Given the description of an element on the screen output the (x, y) to click on. 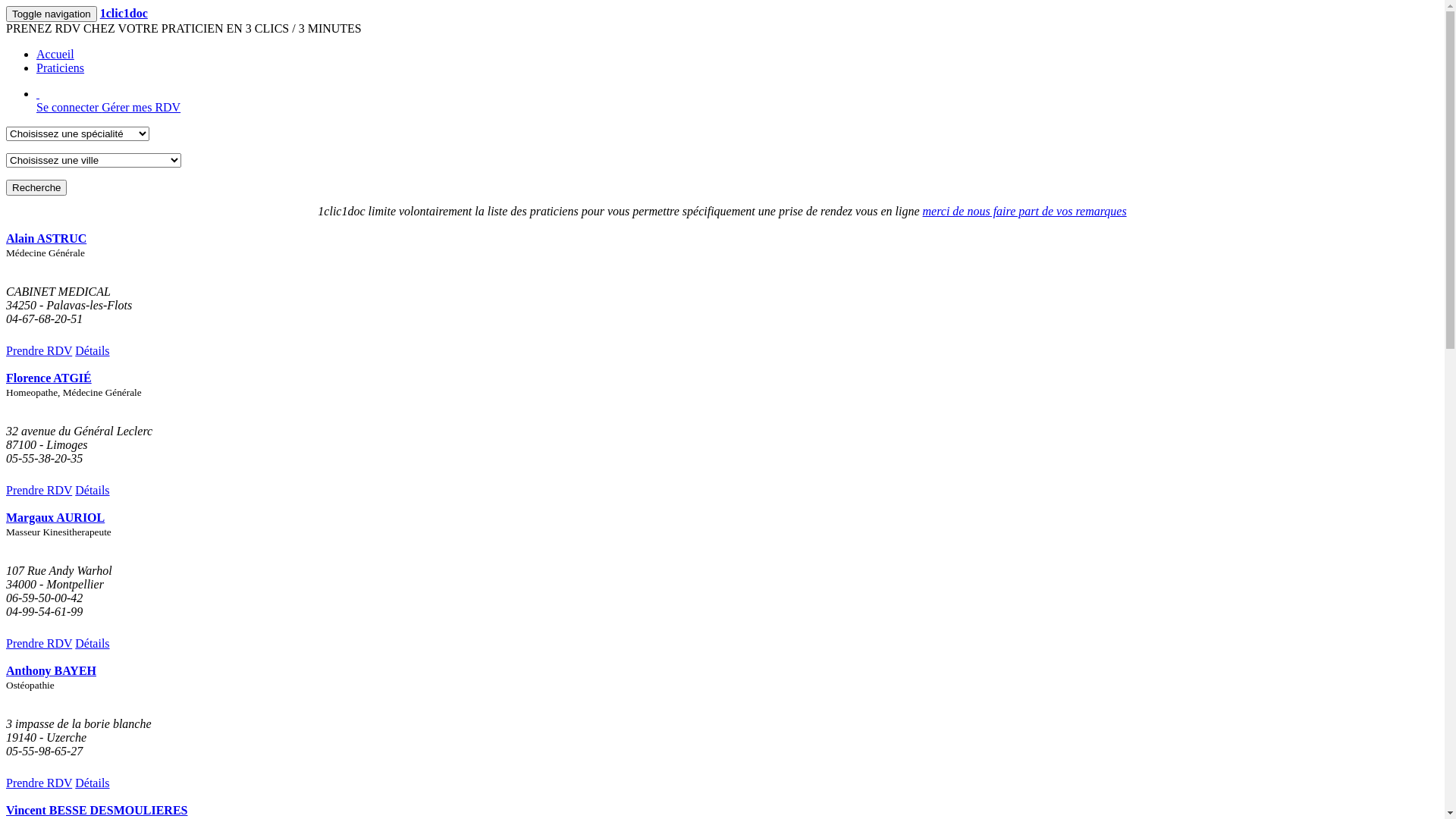
merci de nous faire part de vos remarques Element type: text (1024, 210)
Prendre RDV Element type: text (39, 643)
Prendre RDV Element type: text (39, 782)
Margaux AURIOL Element type: text (55, 517)
Prendre RDV Element type: text (39, 489)
Accueil Element type: text (55, 53)
1clic1doc Element type: text (123, 12)
Toggle navigation Element type: text (51, 13)
Prendre RDV Element type: text (39, 350)
Recherche Element type: text (36, 187)
Anthony BAYEH Element type: text (51, 670)
Praticiens Element type: text (60, 67)
Vincent BESSE DESMOULIERES Element type: text (96, 809)
Alain ASTRUC Element type: text (46, 238)
